Given the description of an element on the screen output the (x, y) to click on. 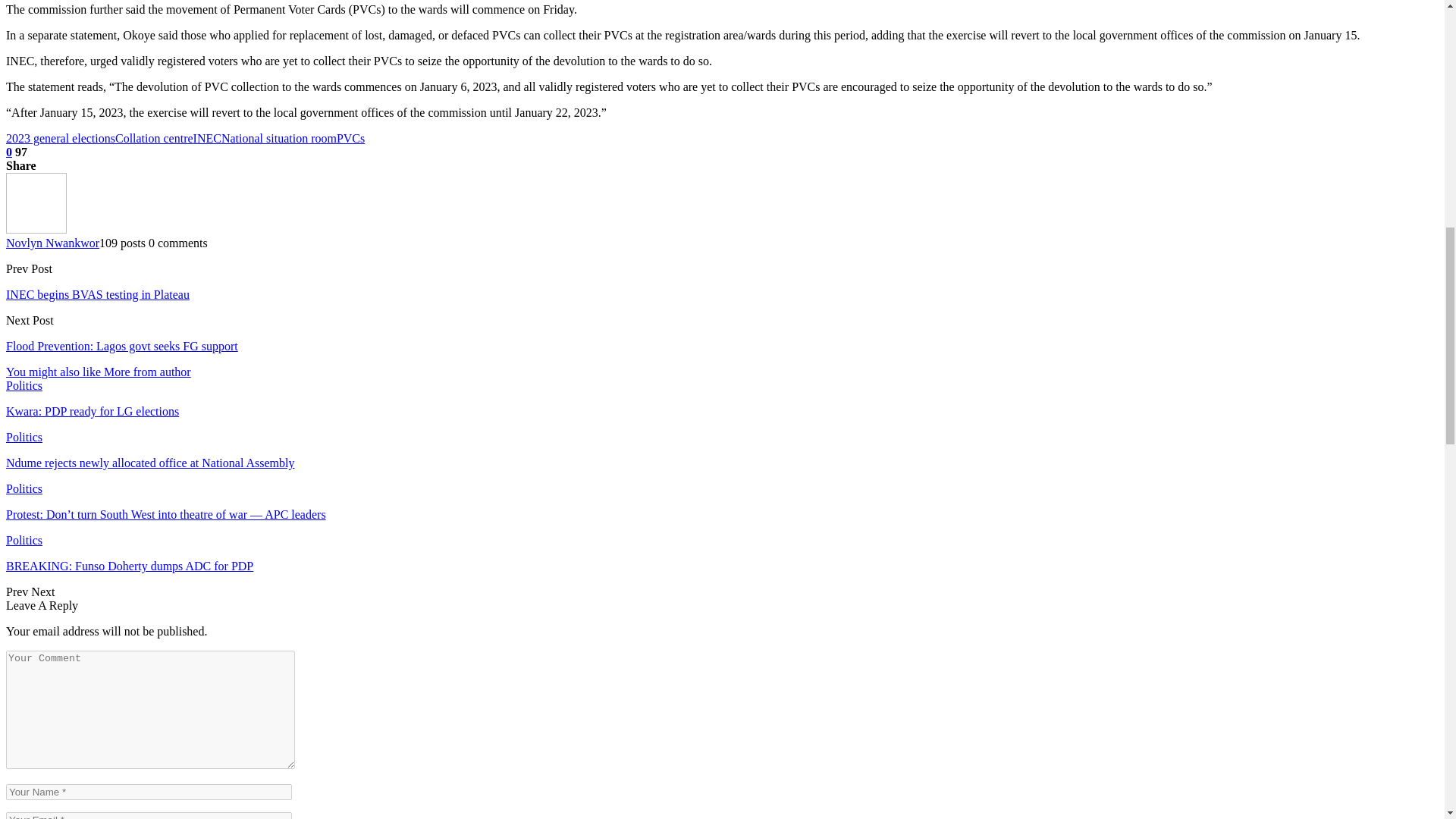
PVCs (350, 137)
National situation room (278, 137)
Browse Author Articles (35, 228)
INEC (207, 137)
2023 general elections (60, 137)
Collation centre (154, 137)
Kwara: PDP ready for LG elections (92, 410)
Ndume rejects newly allocated office at National Assembly (149, 462)
